Given the description of an element on the screen output the (x, y) to click on. 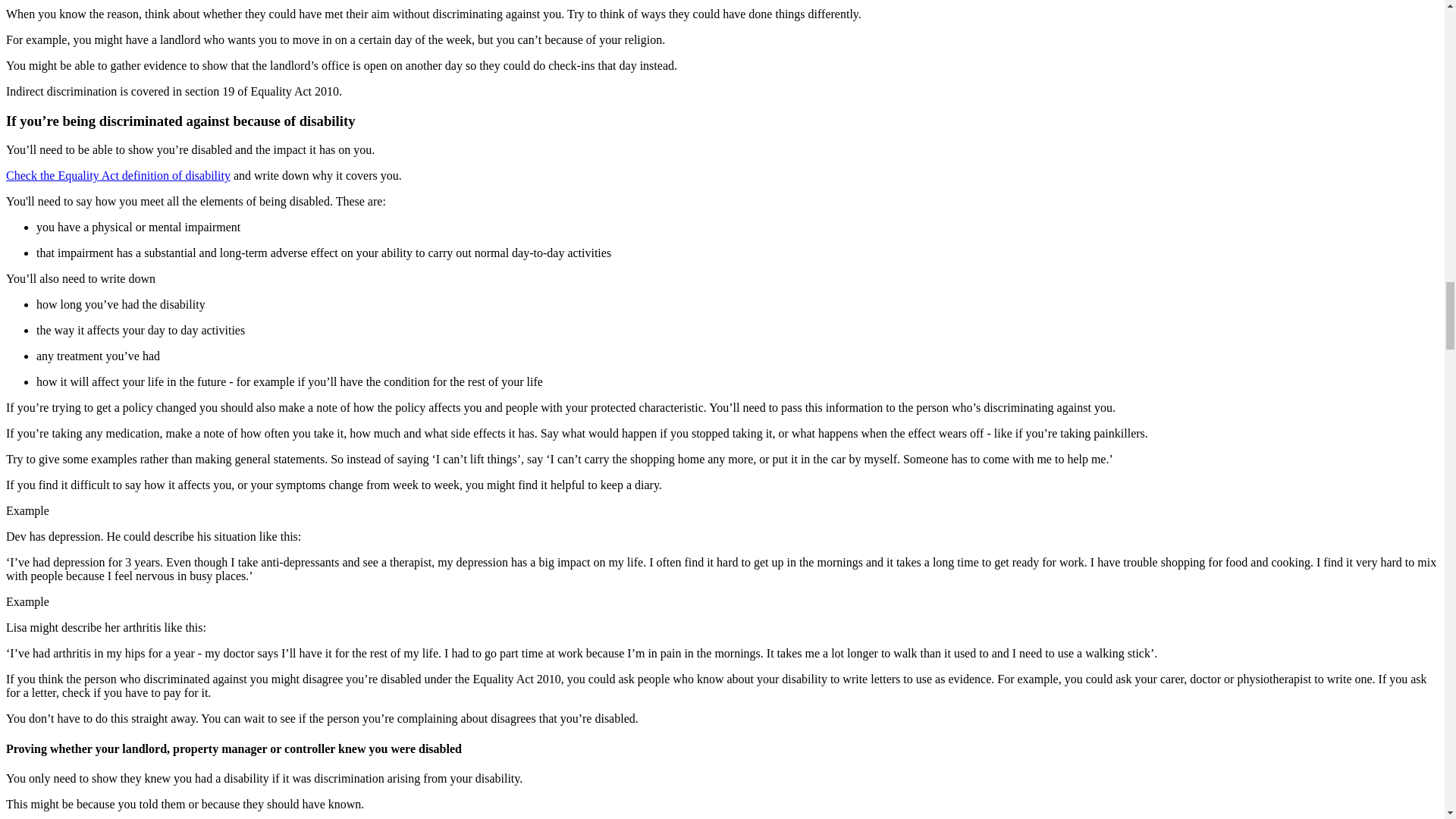
Check the Equality Act definition of disability (117, 174)
